Given the description of an element on the screen output the (x, y) to click on. 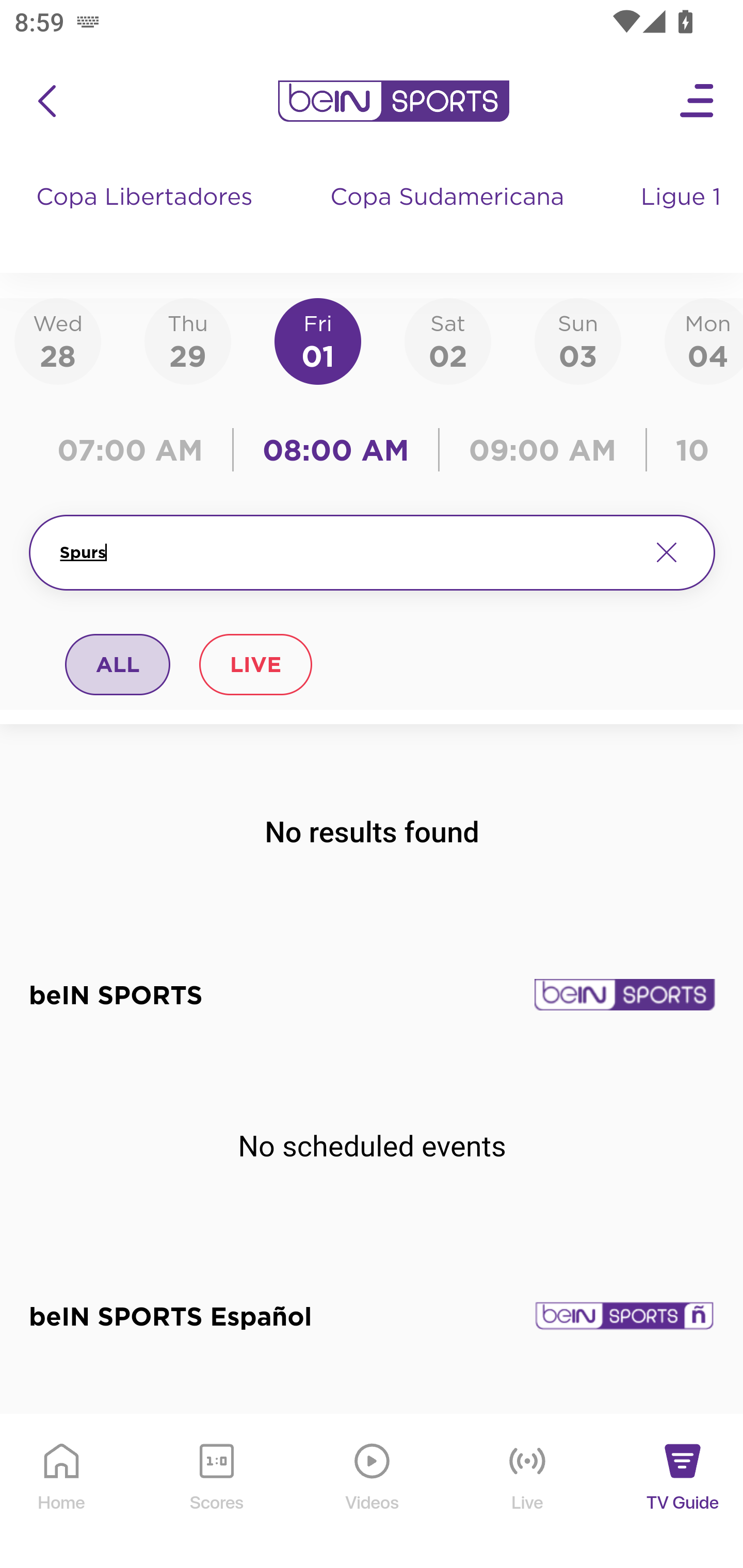
en-us?platform=mobile_android bein logo (392, 101)
icon back (46, 101)
Open Menu Icon (697, 101)
Copa Libertadores (146, 216)
Copa Sudamericana (448, 216)
Ligue 1 (682, 216)
Wed28 (58, 340)
Thu29 (187, 340)
Fri01 (318, 340)
Sat02 (447, 340)
Sun03 (578, 340)
Mon04 (703, 340)
07:00 AM (135, 449)
08:00 AM (336, 449)
09:00 AM (542, 449)
Spurs (346, 552)
ALL (118, 663)
LIVE (255, 663)
Home Home Icon Home (61, 1491)
Scores Scores Icon Scores (216, 1491)
Videos Videos Icon Videos (372, 1491)
TV Guide TV Guide Icon TV Guide (682, 1491)
